Given the description of an element on the screen output the (x, y) to click on. 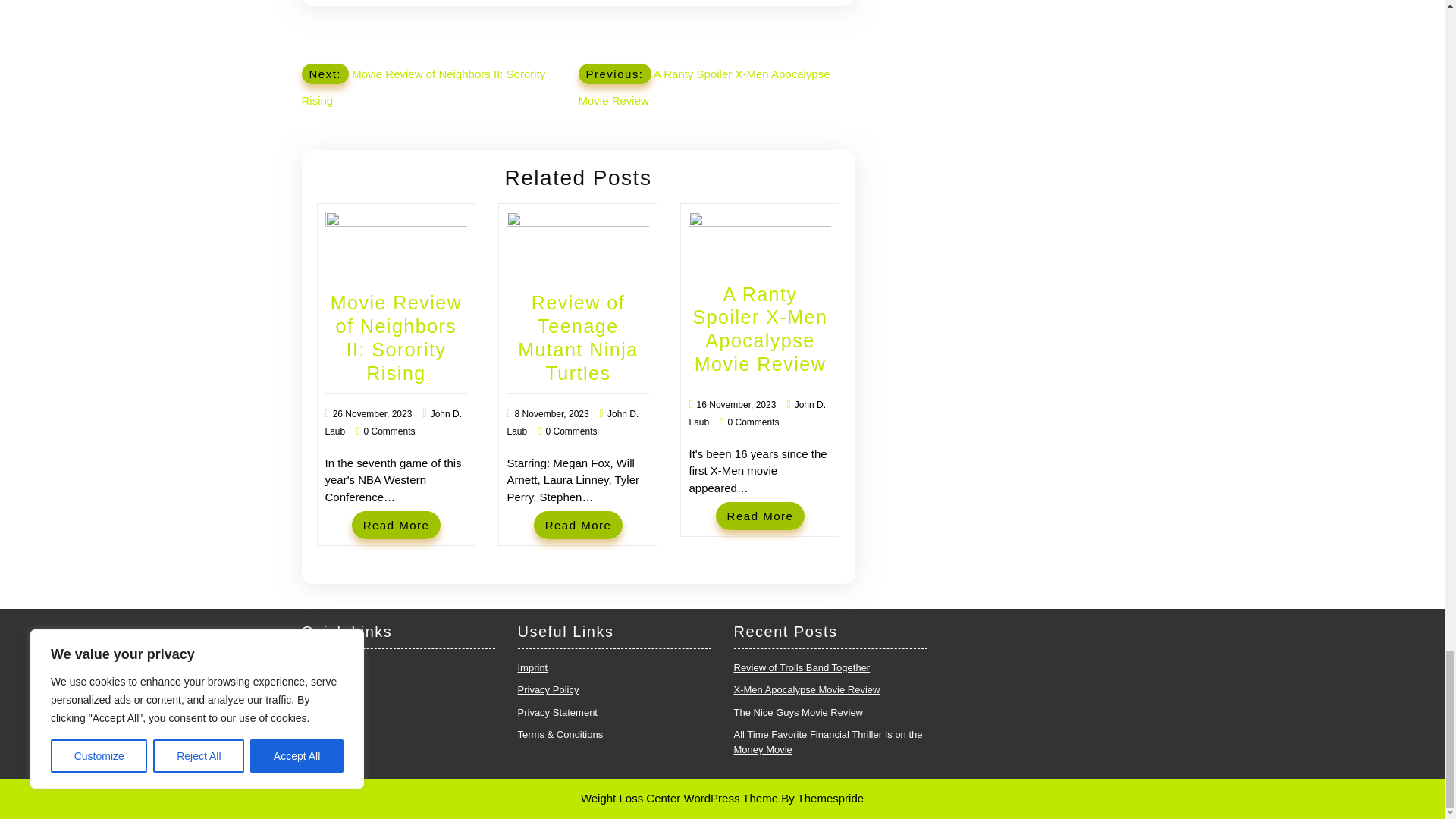
A Ranty Spoiler X-Men Apocalypse Movie Review (760, 328)
Movie Review of Neighbors II: Sorority Rising (396, 337)
Read More (760, 515)
Read More (396, 524)
Review of Teenage Mutant Ninja Turtles (577, 337)
Read More (578, 524)
Movie Review of Neighbors II: Sorority Rising (396, 337)
A Ranty Spoiler X-Men Apocalypse Movie Review (760, 328)
Read More (578, 524)
Read More (396, 524)
Next: Movie Review of Neighbors II: Sorority Rising (423, 85)
Read More (760, 515)
Previous: A Ranty Spoiler X-Men Apocalypse Movie Review (703, 85)
Review of Teenage Mutant Ninja Turtles (577, 337)
